Given the description of an element on the screen output the (x, y) to click on. 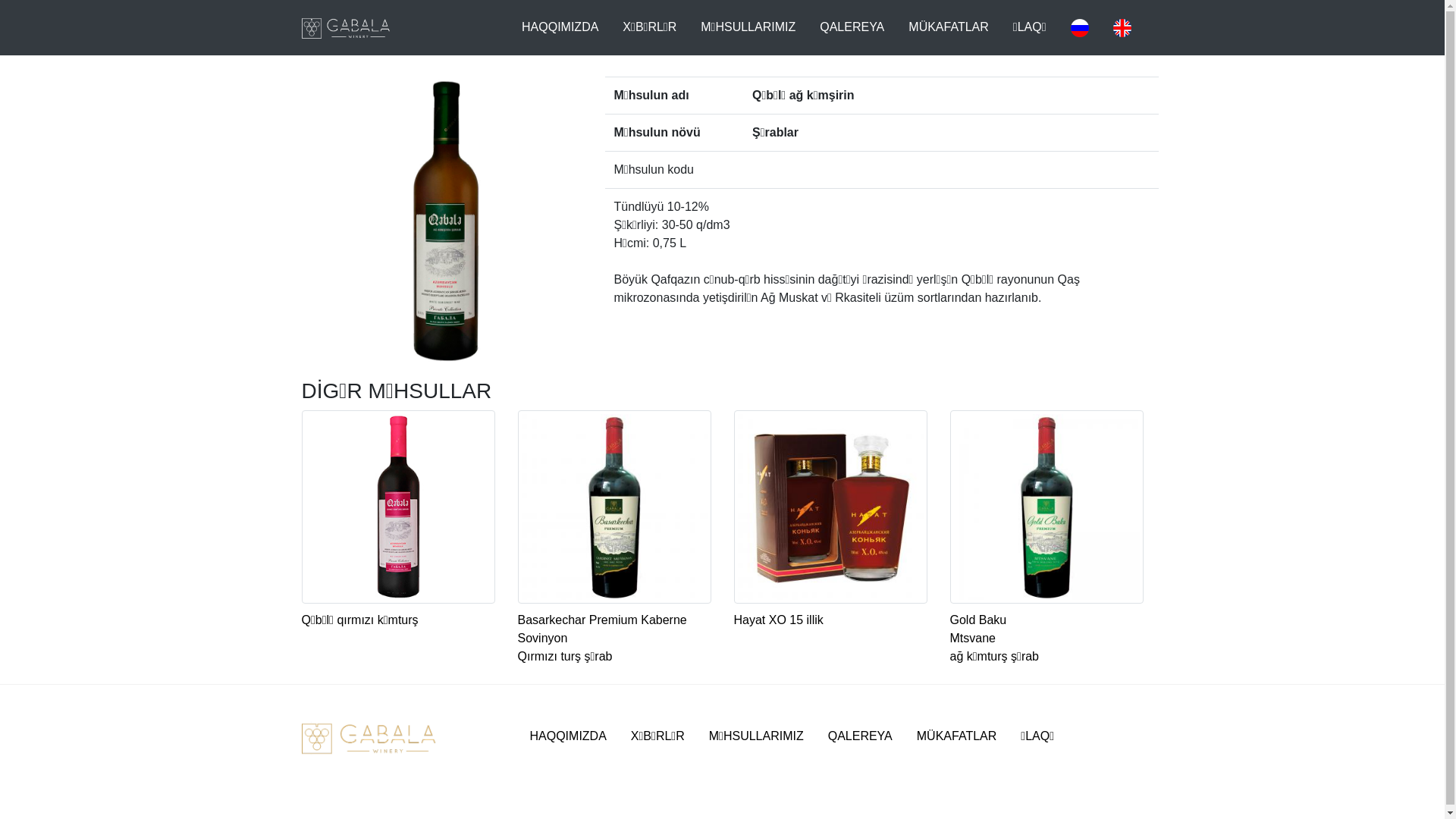
Hayat XO 15 illik Element type: text (830, 547)
HAQQIMIZDA Element type: text (559, 27)
HAQQIMIZDA Element type: text (567, 736)
QALEREYA Element type: text (859, 736)
QALEREYA Element type: text (851, 27)
